Given the description of an element on the screen output the (x, y) to click on. 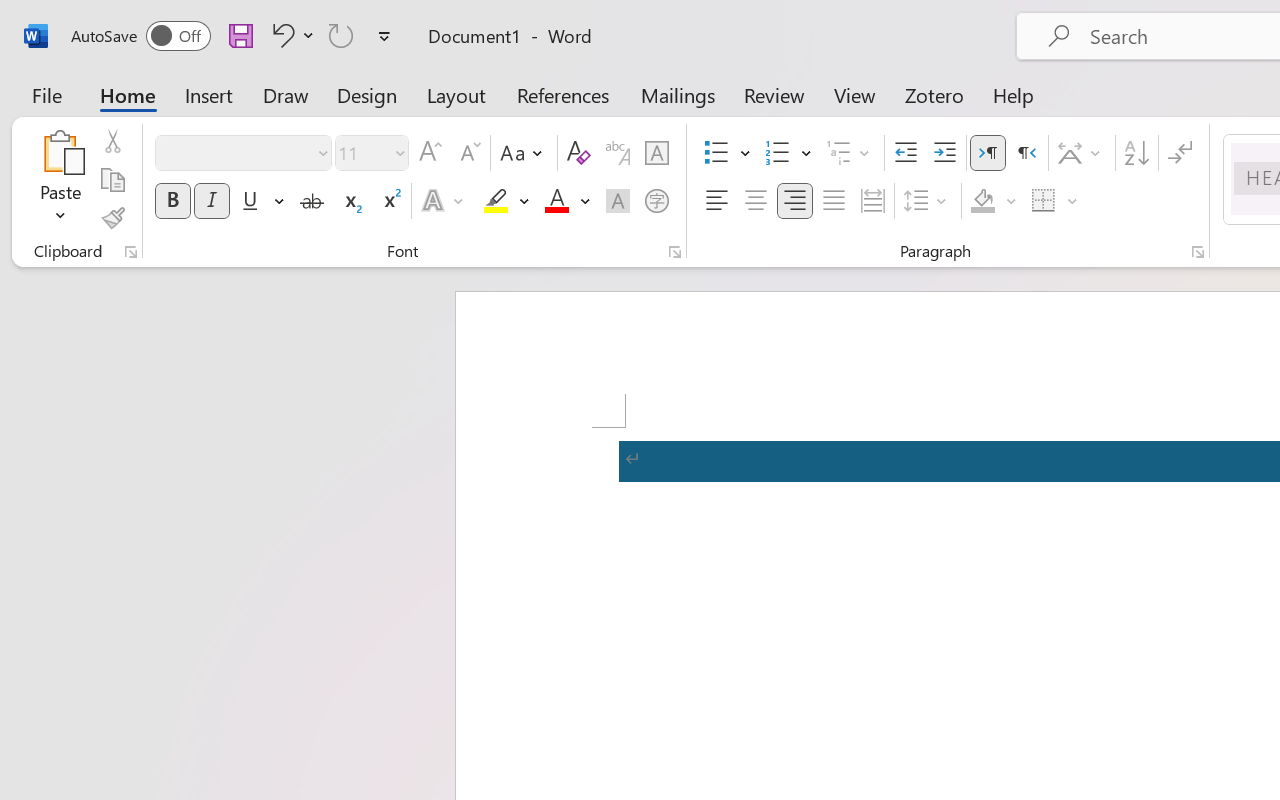
Left-to-Right (988, 153)
Right-to-Left (1026, 153)
Repeat TCSCTranslate (341, 35)
